Given the description of an element on the screen output the (x, y) to click on. 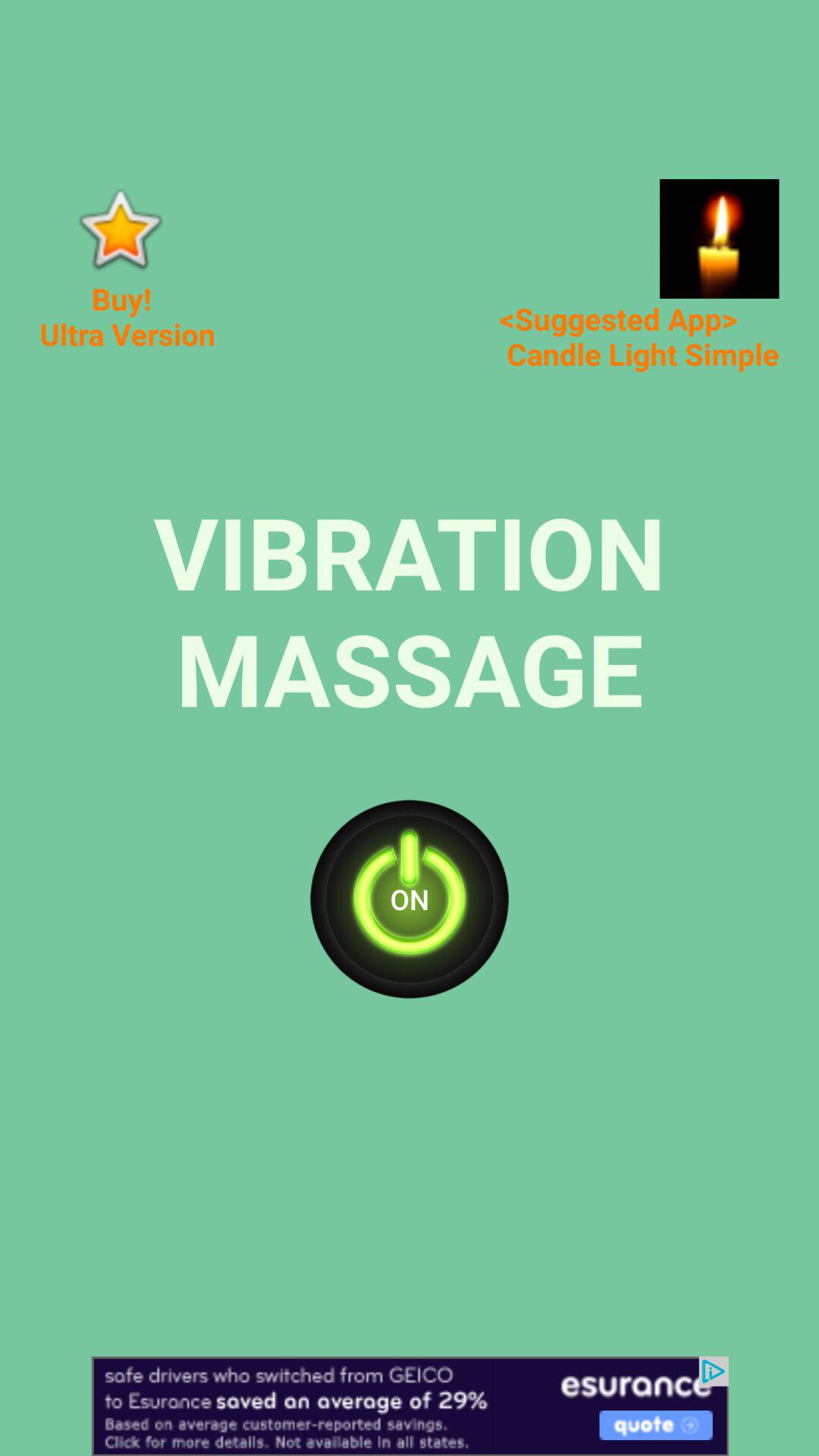
in app purchase (119, 228)
